Given the description of an element on the screen output the (x, y) to click on. 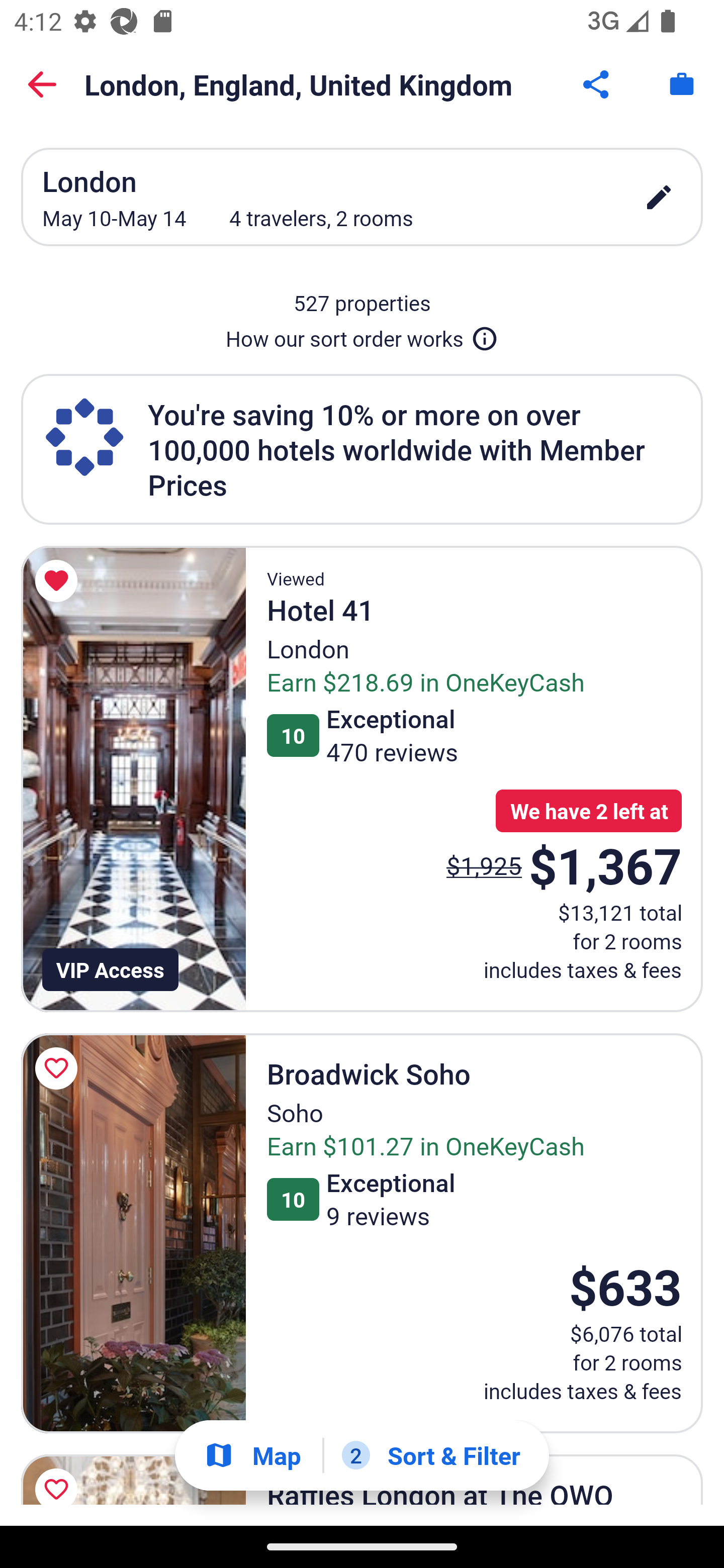
Back (42, 84)
Share Button (597, 84)
Trips. Button (681, 84)
London May 10-May 14 4 travelers, 2 rooms edit (361, 196)
How our sort order works (361, 334)
Remove Hotel 41 from a trip (59, 580)
Hotel 41 (133, 778)
$1,925 The price was $1,925 (483, 865)
Save Broadwick Soho to a trip (59, 1067)
Broadwick Soho (133, 1233)
2 Sort & Filter 2 Filters applied. Filters Button (430, 1455)
Show map Map Show map Button (252, 1455)
Save Raffles London at The OWO to a trip (59, 1476)
